Given the description of an element on the screen output the (x, y) to click on. 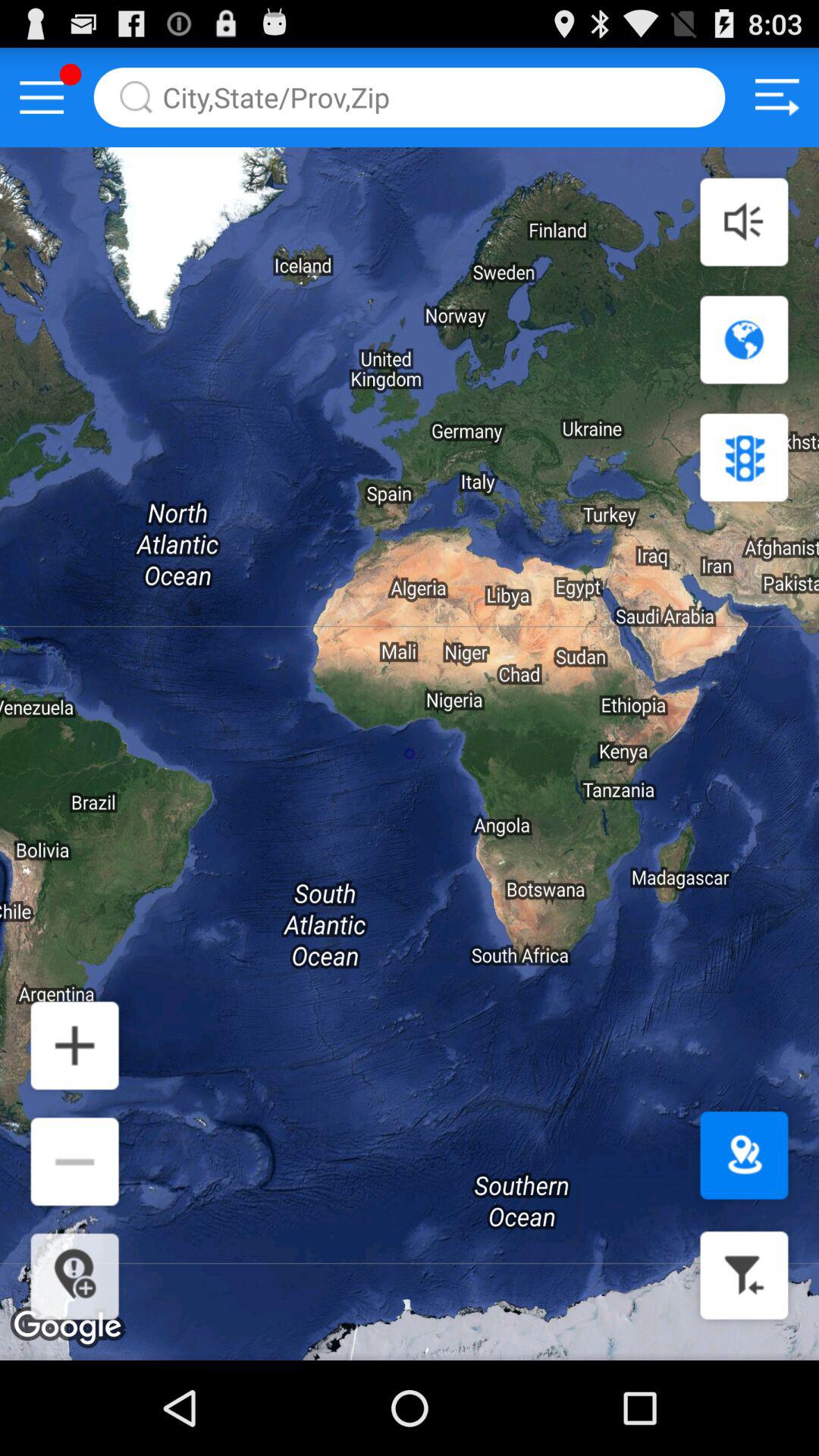
view traffic (744, 457)
